Given the description of an element on the screen output the (x, y) to click on. 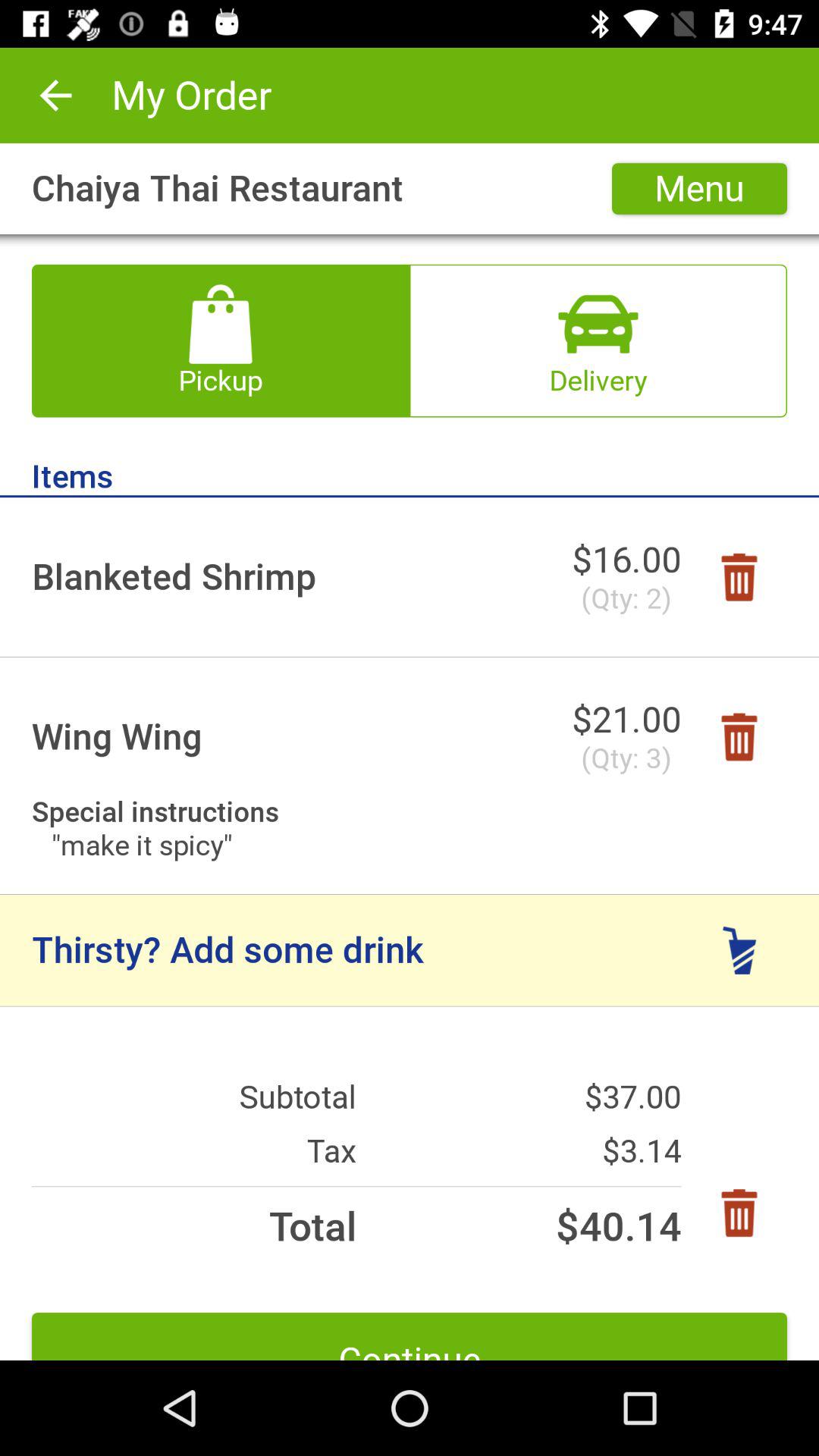
turn off the continue (409, 1336)
